Given the description of an element on the screen output the (x, y) to click on. 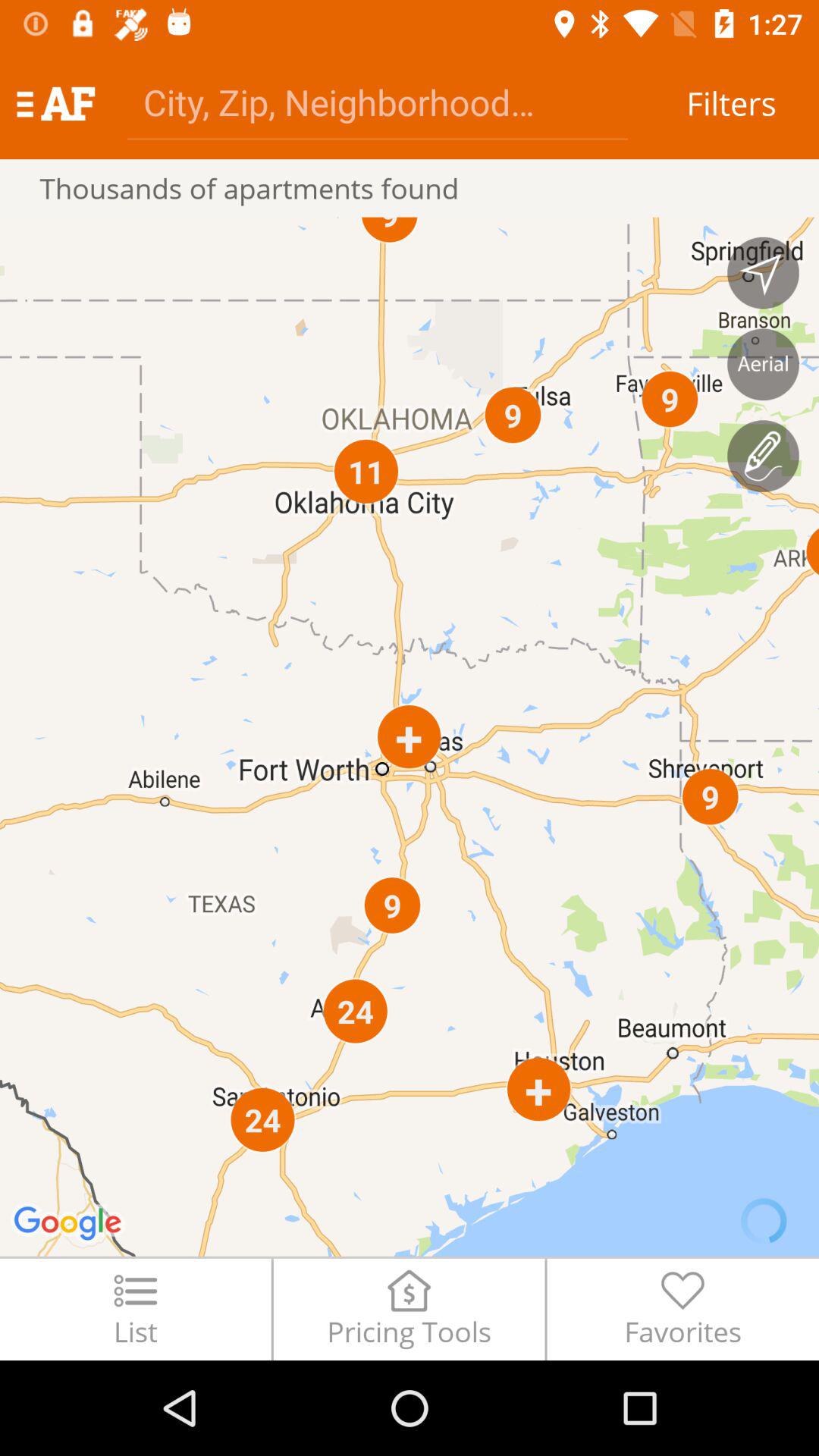
turn on icon above thousands of apartments icon (377, 102)
